Given the description of an element on the screen output the (x, y) to click on. 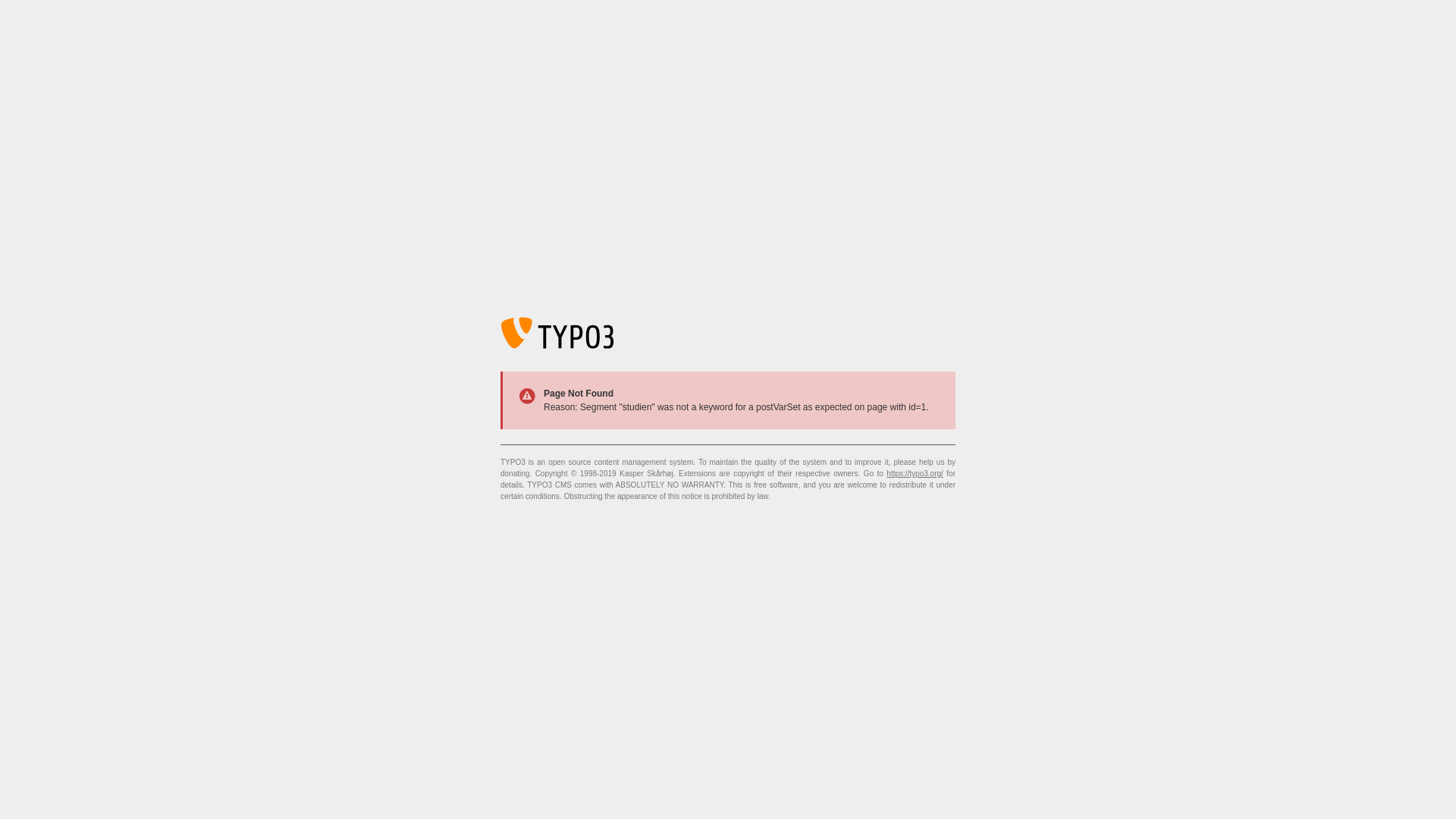
https://typo3.org/ Element type: text (914, 473)
